Given the description of an element on the screen output the (x, y) to click on. 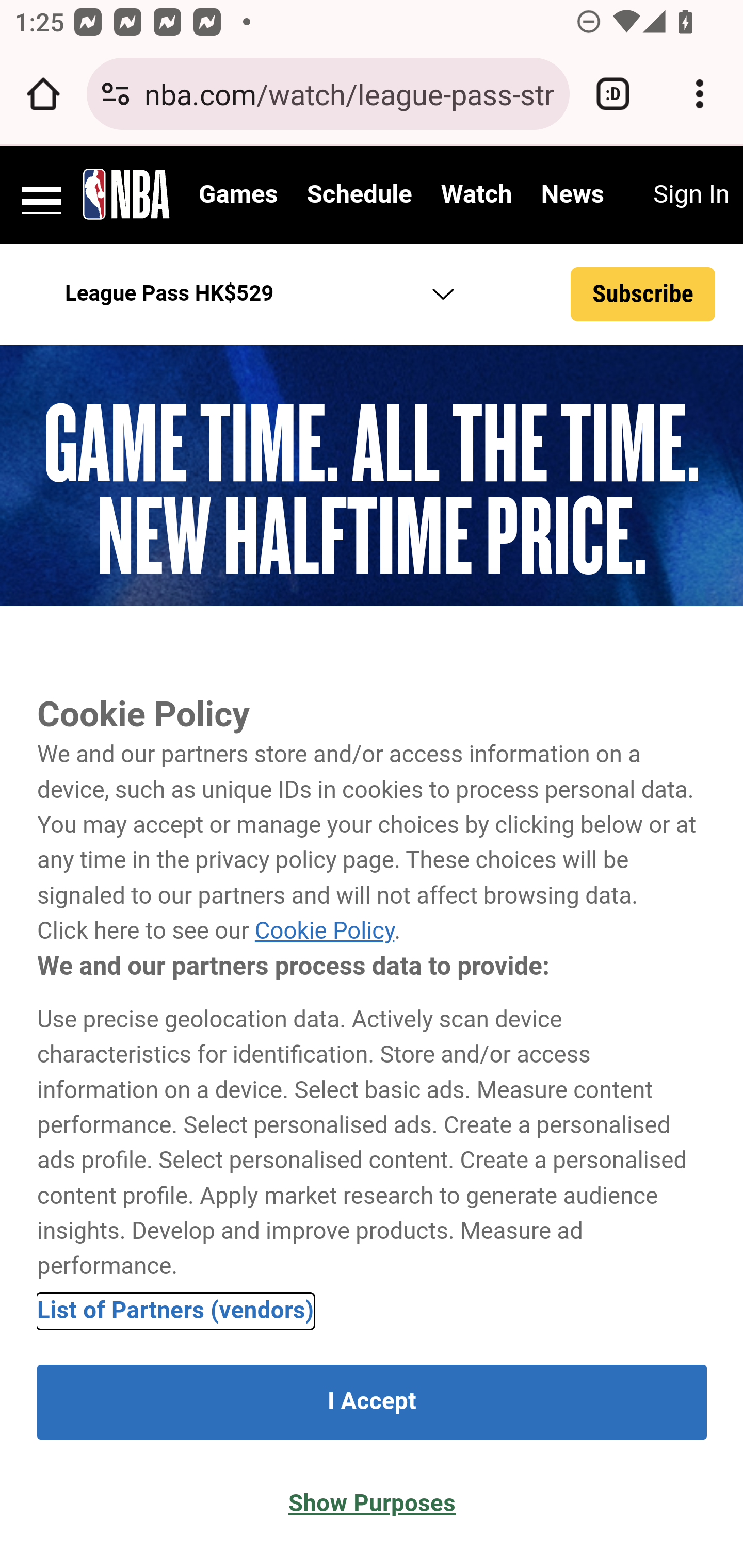
Open the home page (43, 93)
Connection is secure (115, 93)
Switch or close tabs (612, 93)
Customize and control Google Chrome (699, 93)
Games (238, 195)
Schedule (358, 195)
Watch (476, 195)
News (571, 195)
Sign In (690, 195)
NBA Logo NBA NBA Logo NBA (127, 193)
Global Navigation Toggle (42, 193)
League Pass HK$529 (254, 293)
Subscribe (643, 294)
Cookie Policy (323, 931)
List of Partners (vendors) (175, 1310)
I Accept (372, 1402)
Show Purposes (372, 1504)
